Given the description of an element on the screen output the (x, y) to click on. 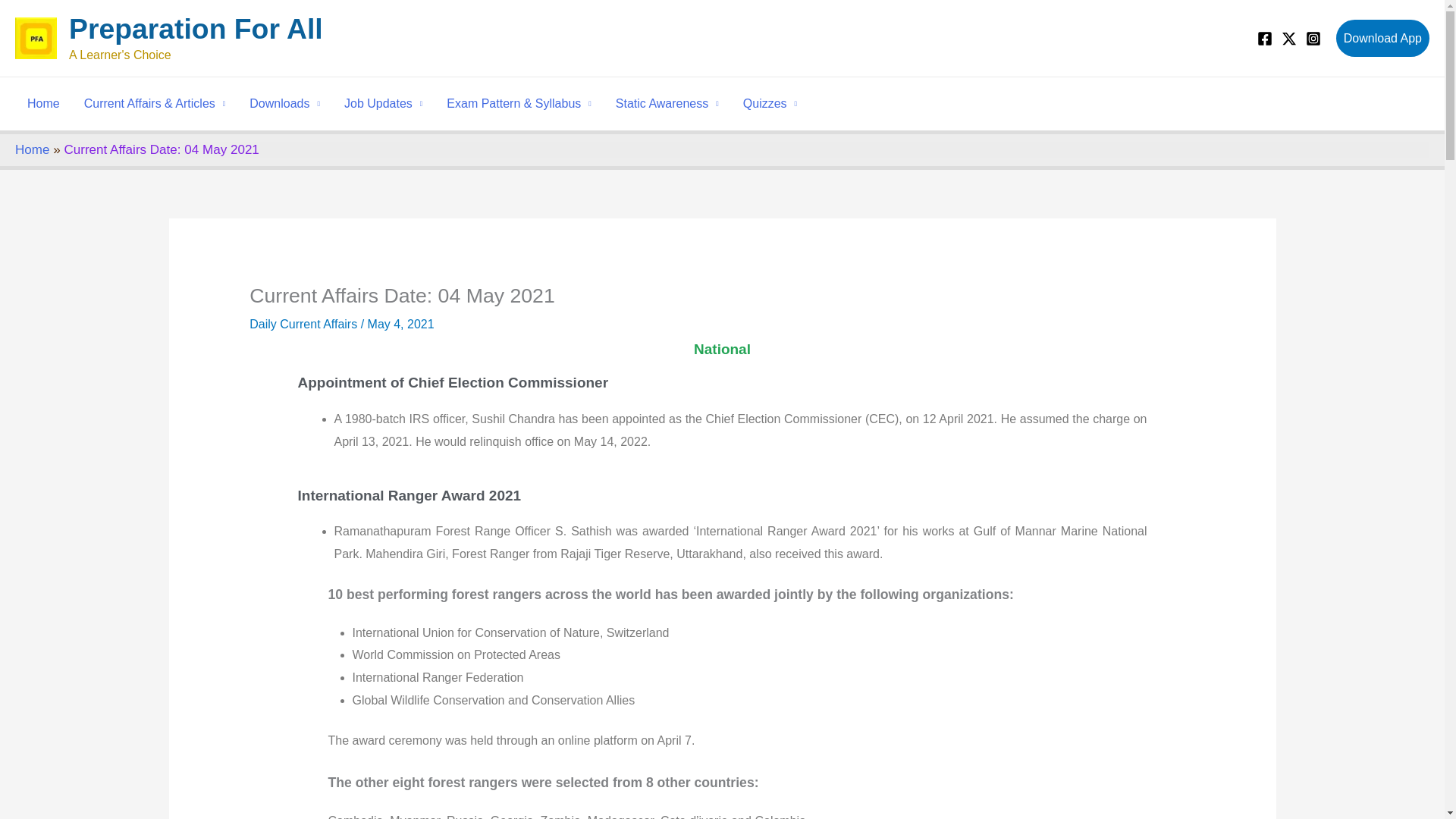
Download App (1382, 38)
Static Awareness (667, 103)
Job Updates (382, 103)
Home (42, 103)
Preparation For All (195, 29)
Downloads (284, 103)
